Given the description of an element on the screen output the (x, y) to click on. 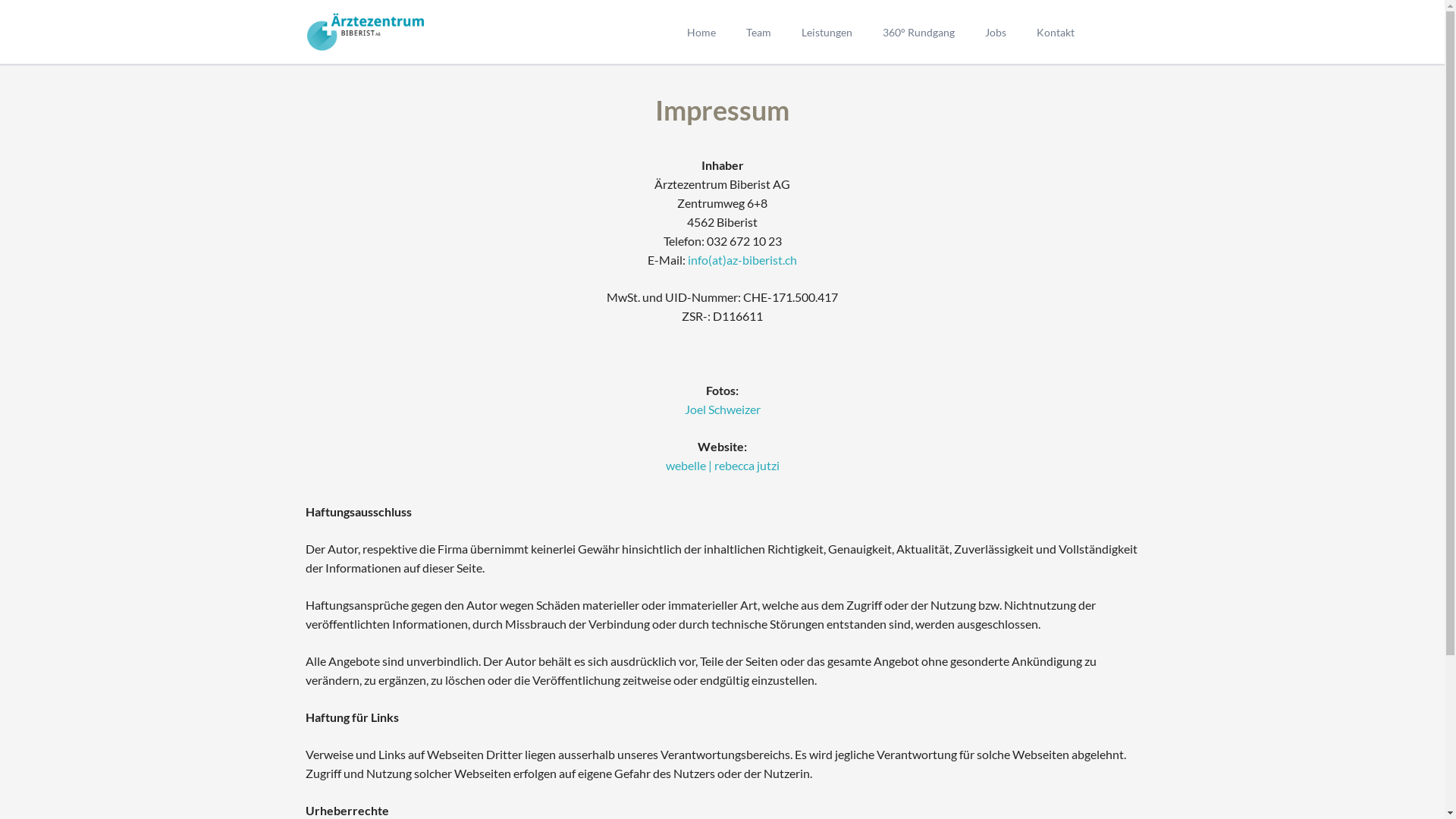
Leistungen Element type: text (825, 31)
Home Element type: text (701, 31)
Team Element type: text (758, 31)
Kontakt Element type: text (1054, 31)
info(at)az-biberist.ch Element type: text (742, 259)
Joel Schweizer Element type: text (721, 408)
Jobs Element type: text (994, 31)
webelle | rebecca jutzi Element type: text (722, 465)
